Given the description of an element on the screen output the (x, y) to click on. 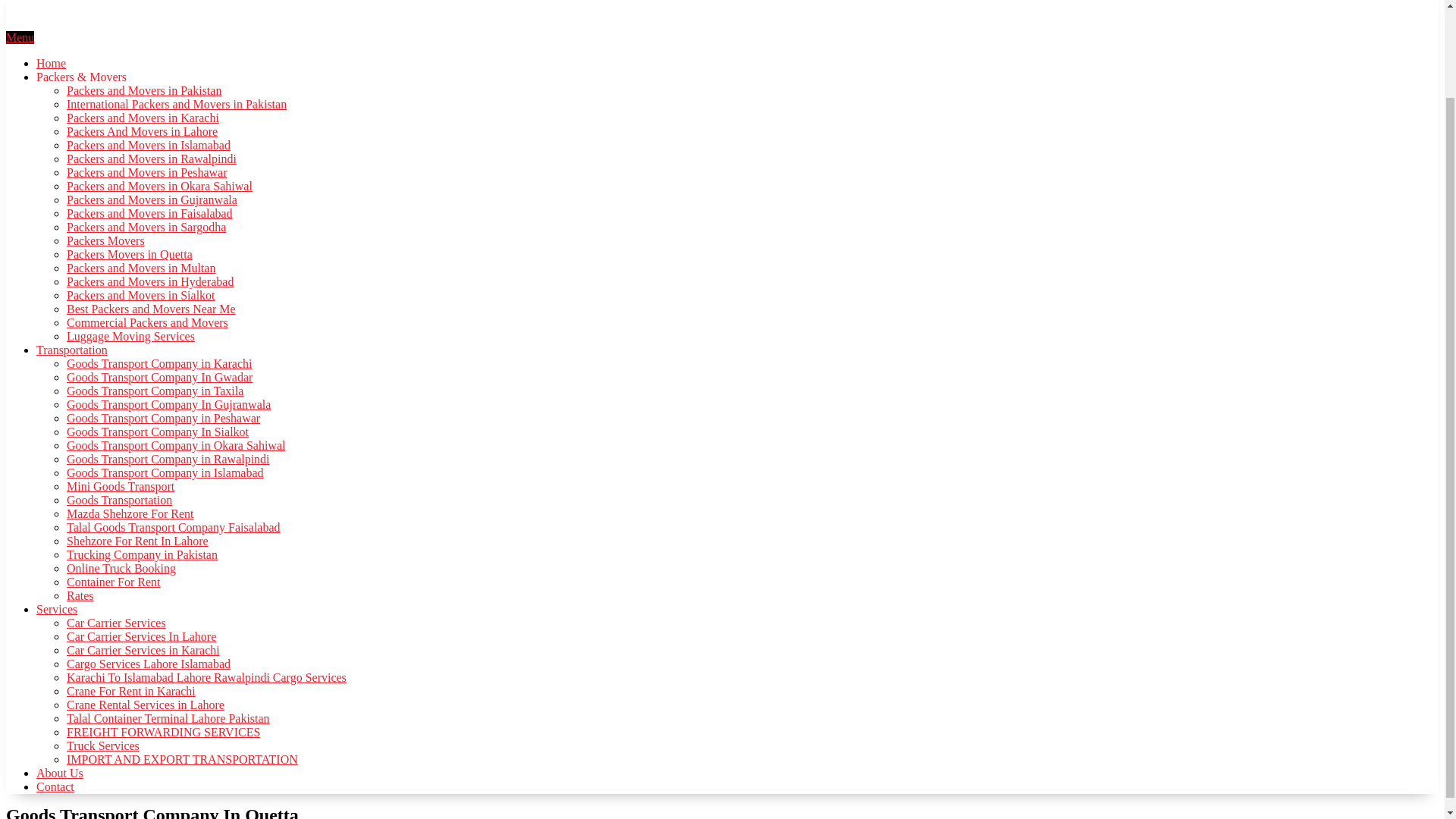
Goods Transport Company in Taxila (154, 390)
Packers and Movers in Multan (140, 267)
Packers and Movers in Rawalpindi (150, 158)
Packers And Movers in Lahore (141, 131)
Talal Goods Transport Company Faisalabad (173, 526)
Packers and Movers in Pakistan (143, 90)
Goods Transport Company in Rawalpindi (167, 459)
Packers and Movers in Sialkot (140, 295)
Home (50, 62)
Mazda Shehzore For Rent (129, 513)
